Given the description of an element on the screen output the (x, y) to click on. 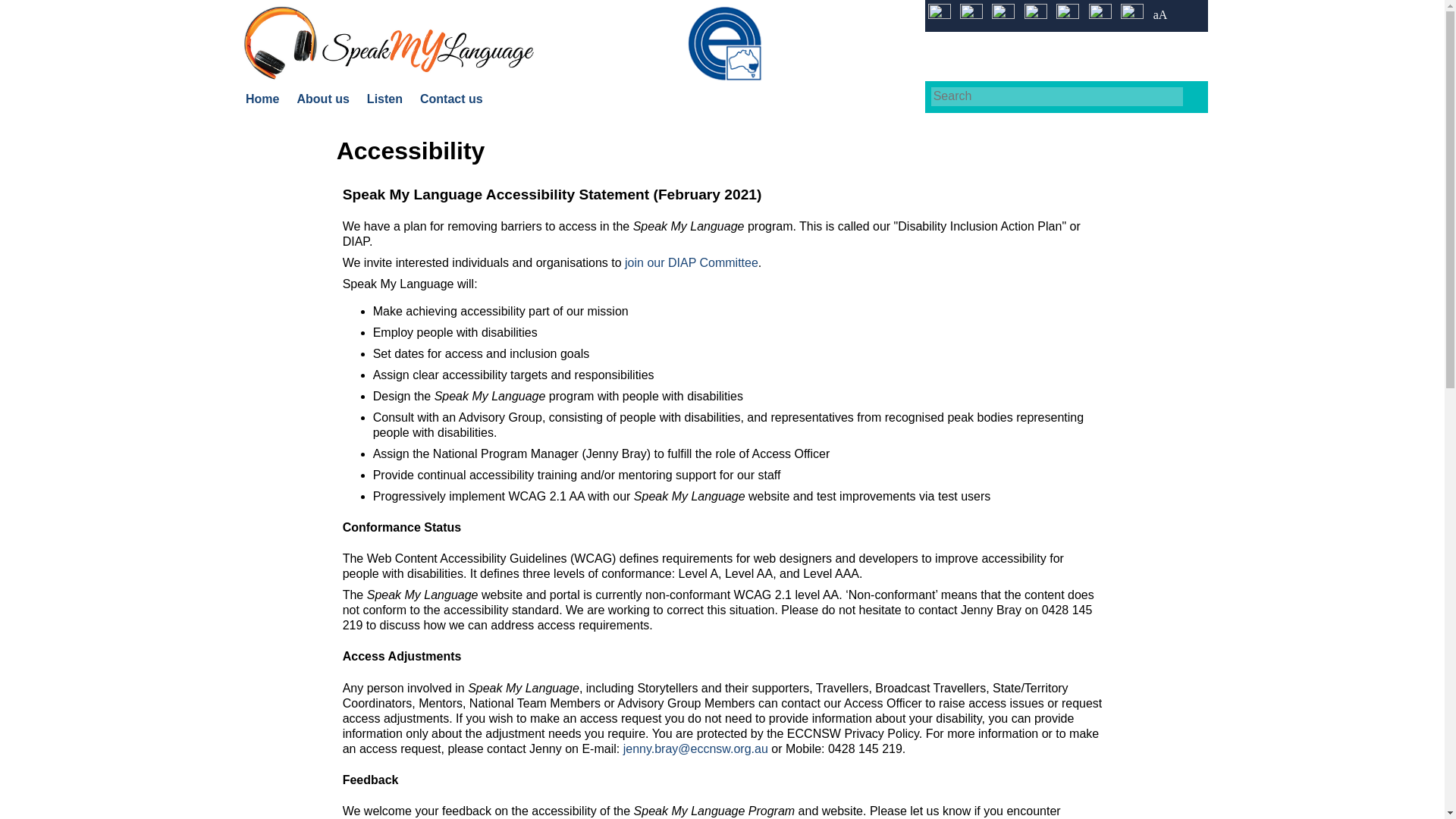
Home (387, 42)
Contact us (451, 98)
Home (262, 98)
click for more contrast (1035, 15)
click to turn colour off and on (938, 15)
click for easier to read text (1160, 14)
click to make text bigger (1066, 15)
Listen (384, 98)
About us (323, 98)
